Given the description of an element on the screen output the (x, y) to click on. 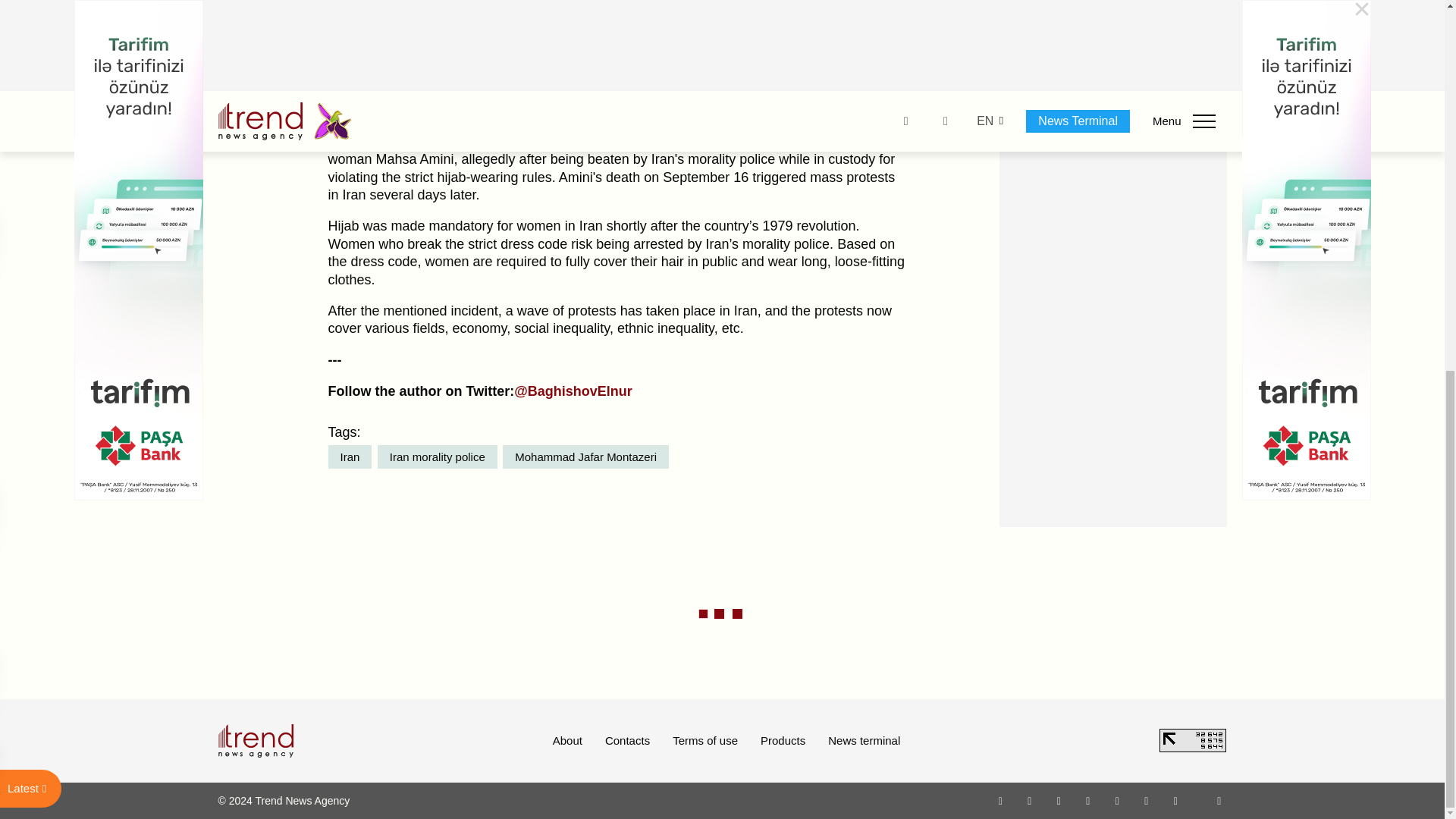
LinkedIn (1146, 800)
Facebook (1029, 800)
Twitter (1059, 800)
Whatsapp (1000, 800)
Android App (1176, 800)
RSS Feed (1219, 800)
Telegram (1117, 800)
Youtube (1088, 800)
